Given the description of an element on the screen output the (x, y) to click on. 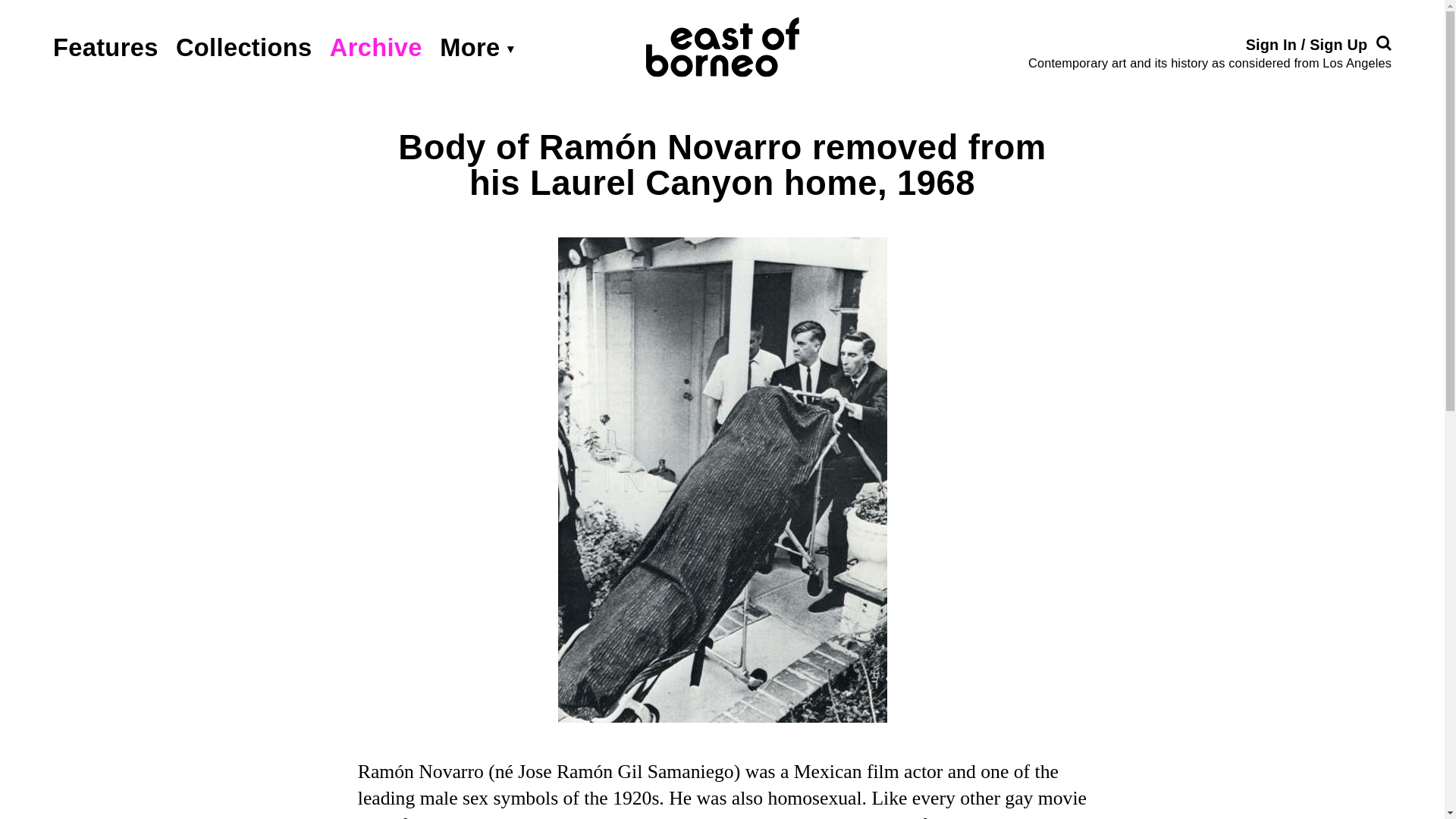
Archive (376, 47)
Collections (244, 47)
Features (105, 47)
